Given the description of an element on the screen output the (x, y) to click on. 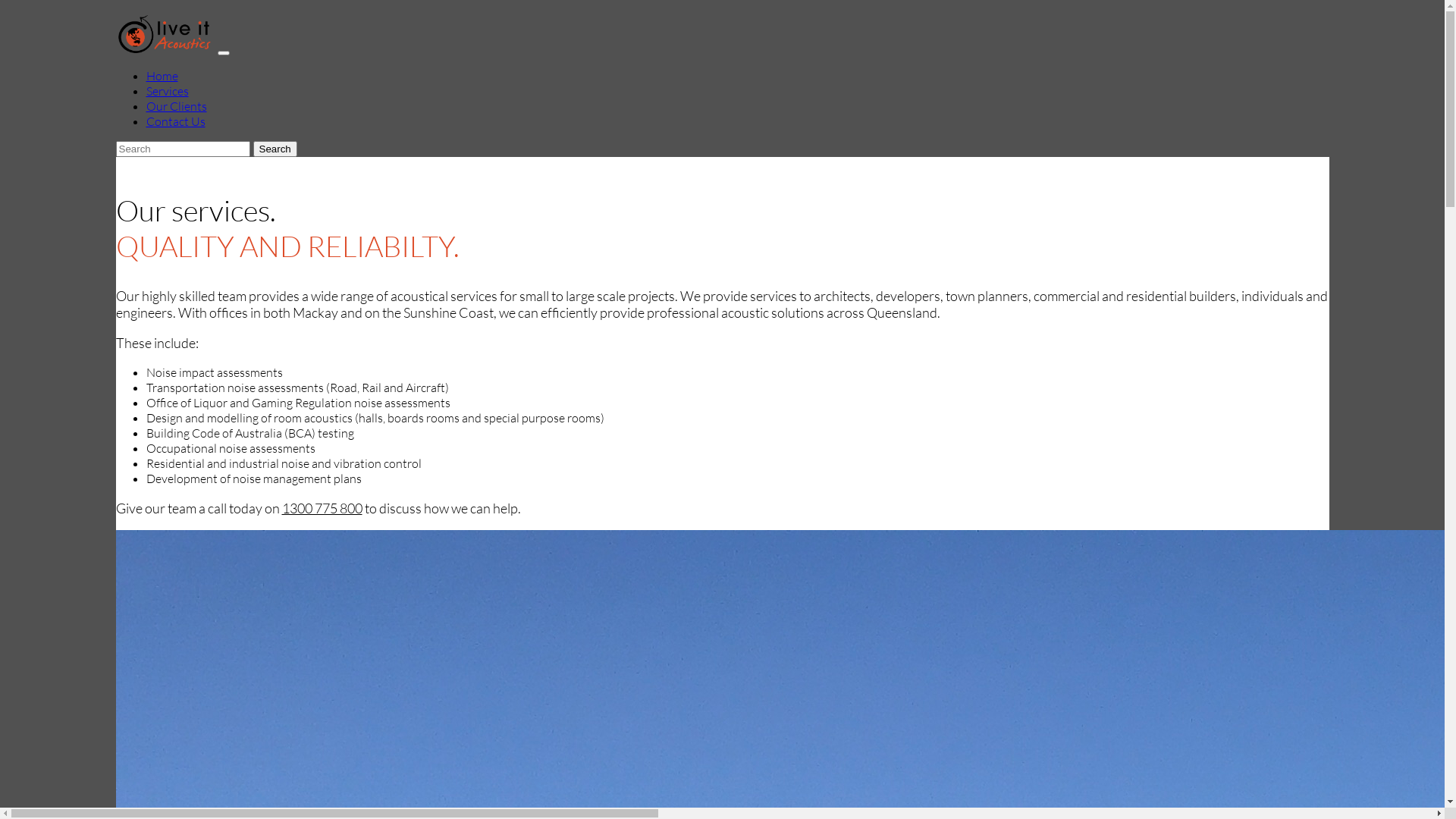
Our Clients Element type: text (175, 105)
Search Element type: text (275, 148)
Contact Us Element type: text (174, 120)
Home Element type: text (161, 75)
Services Element type: text (166, 90)
